Given the description of an element on the screen output the (x, y) to click on. 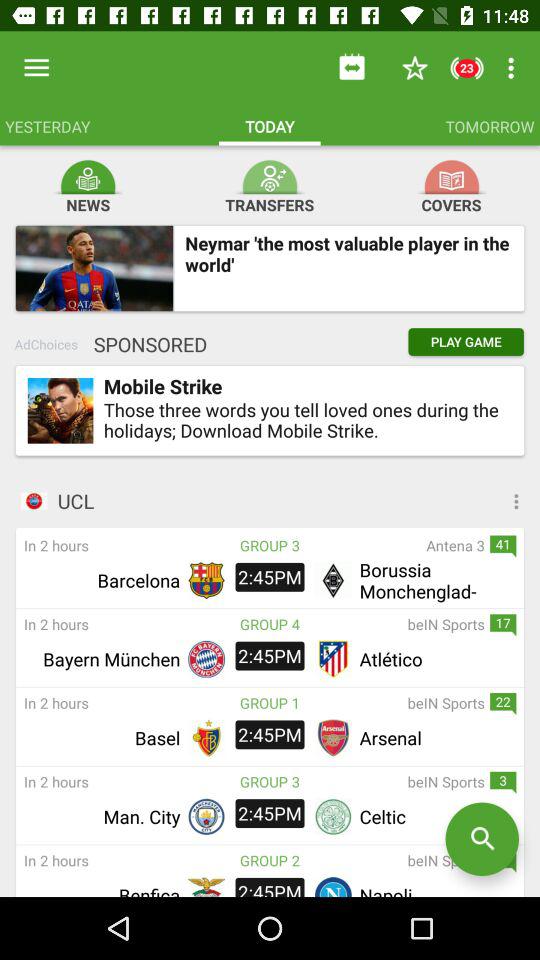
launch the group 4 icon (270, 624)
